Given the description of an element on the screen output the (x, y) to click on. 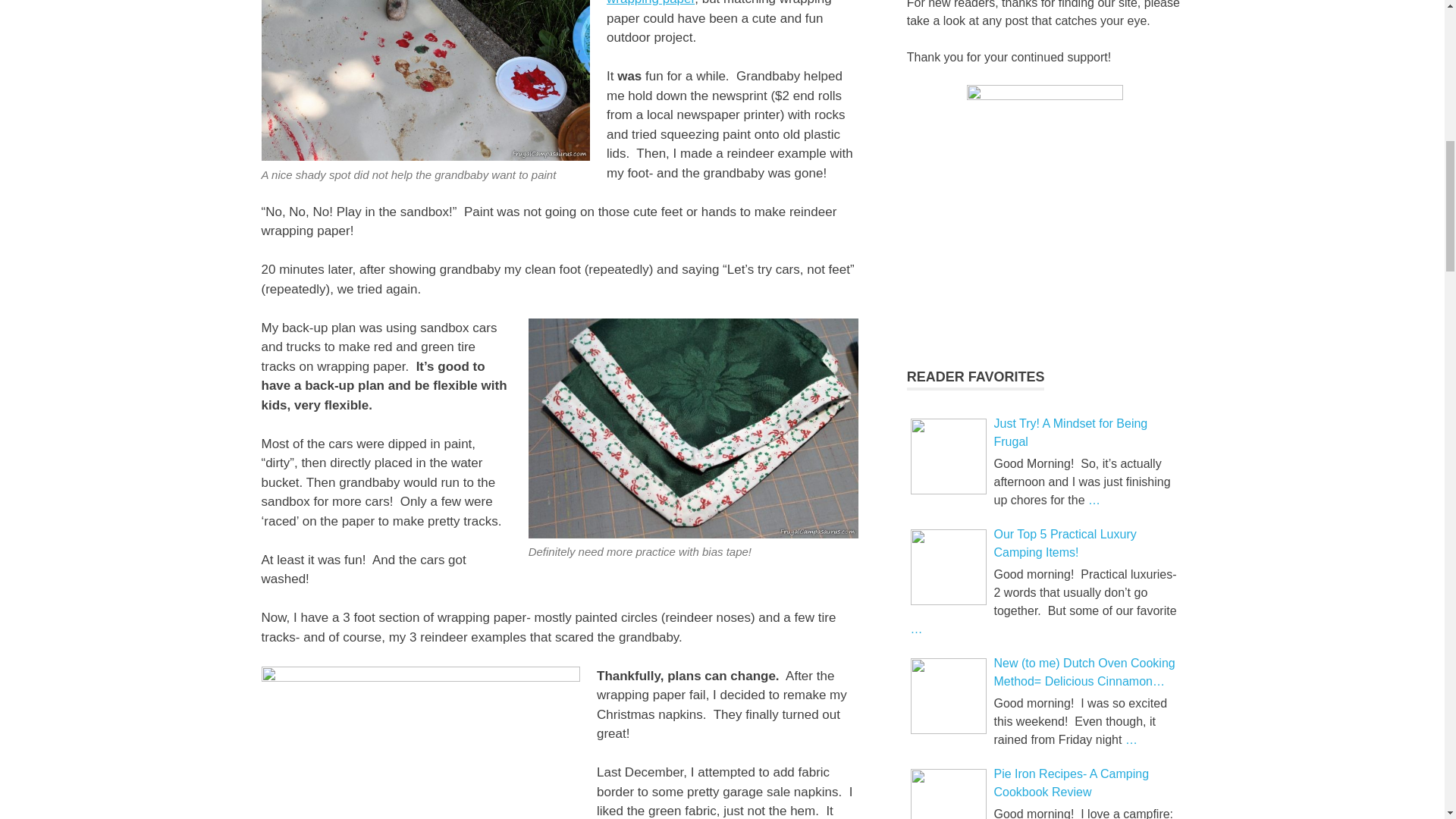
wrapping paper (650, 2)
Our Top 5 Practical Luxury Camping Items! (947, 567)
Pie Iron Recipes- A Camping Cookbook Review (947, 794)
Just Try!  A Mindset for Being Frugal (947, 456)
